Given the description of an element on the screen output the (x, y) to click on. 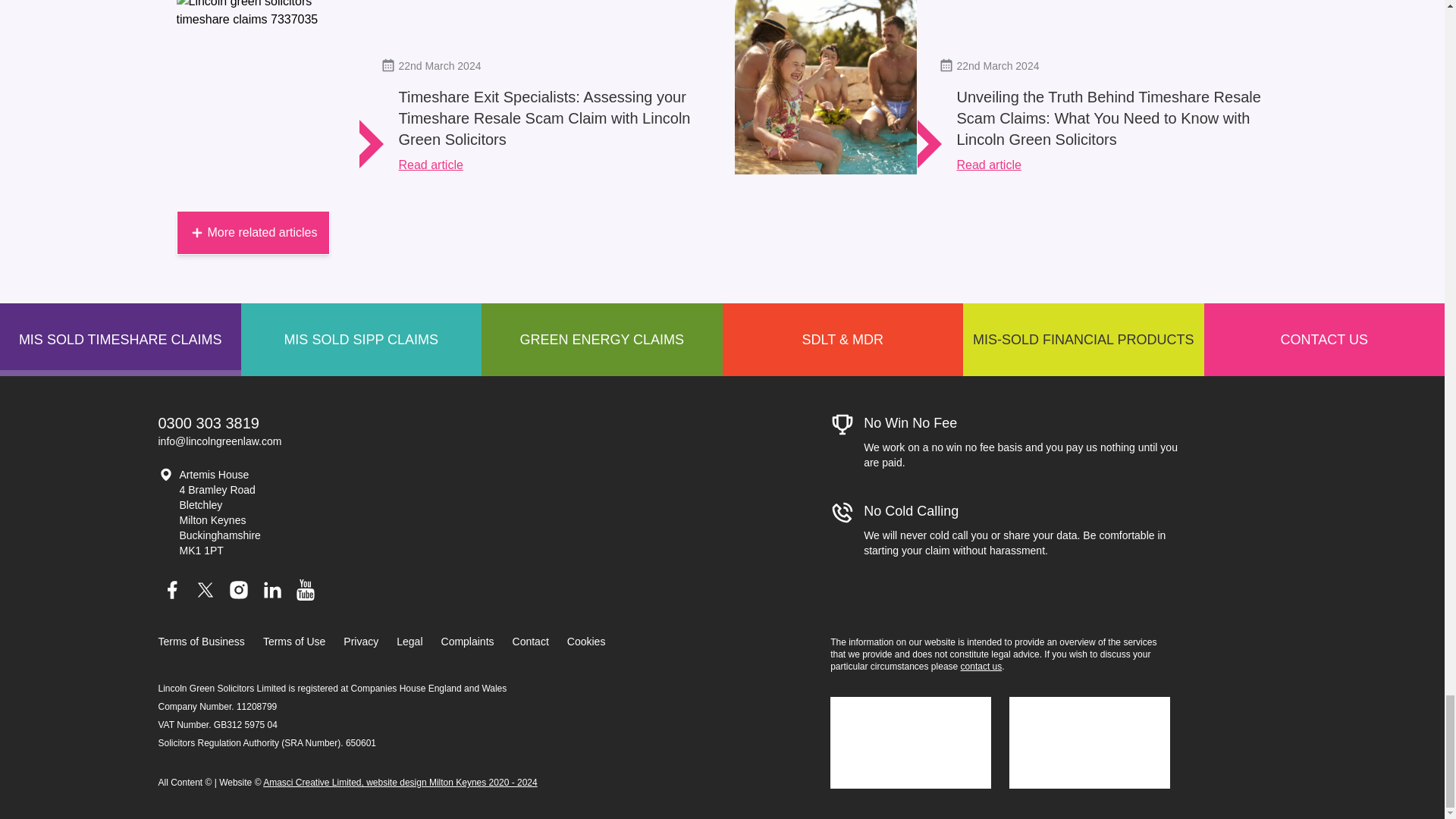
X (204, 589)
Facebook (170, 589)
Instagram (237, 589)
